Given the description of an element on the screen output the (x, y) to click on. 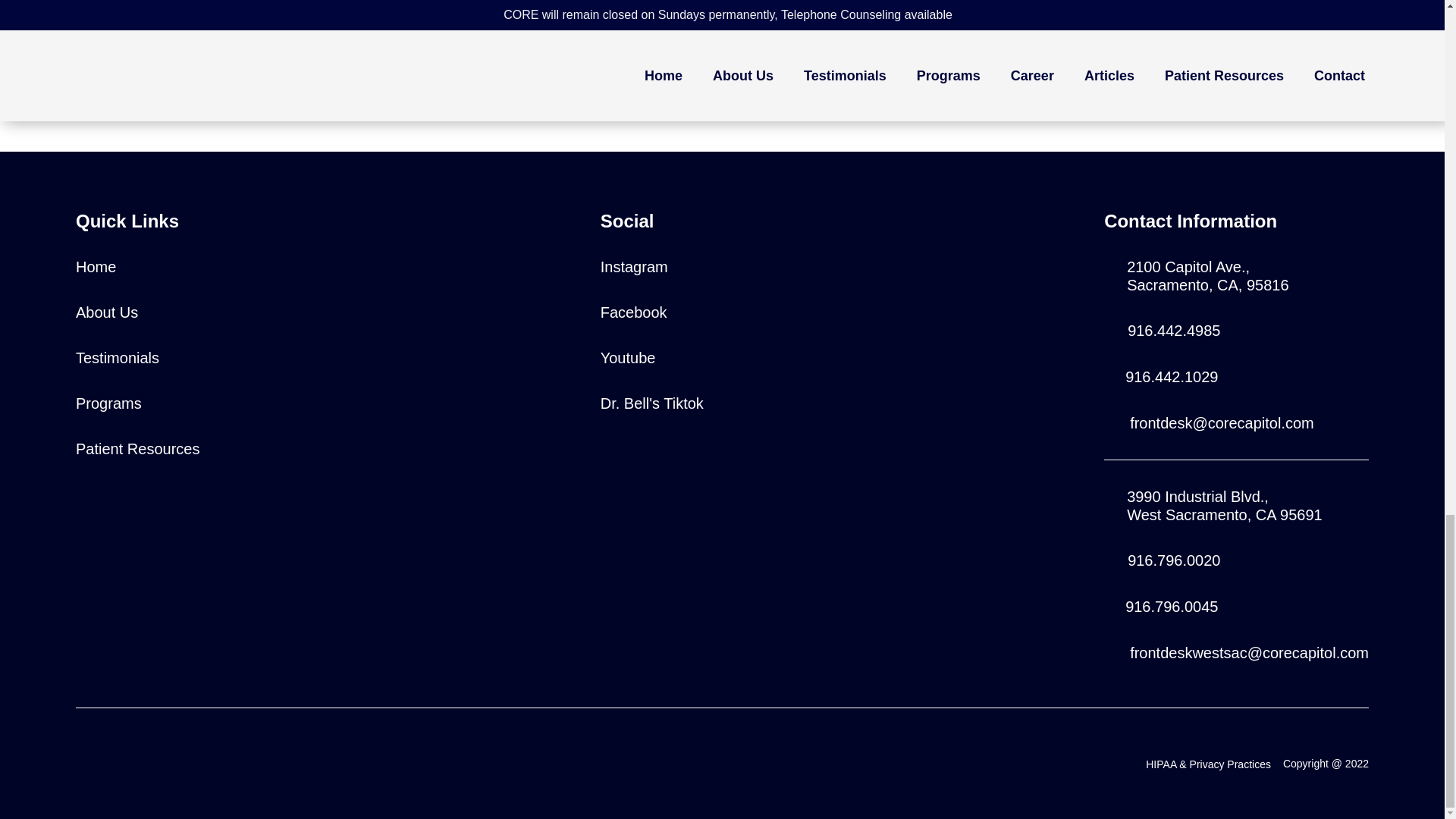
Facebook (632, 312)
916.442.4985 (1173, 330)
Testimonials (116, 357)
Dr. Bell's Tiktok (1207, 275)
Instagram (651, 402)
916.442.1029 (633, 266)
About Us (1171, 376)
Patient Resources (106, 312)
Home (137, 448)
916.796.0045 (95, 266)
Youtube (1224, 505)
Programs (1171, 606)
916.796.0020 (627, 357)
